Given the description of an element on the screen output the (x, y) to click on. 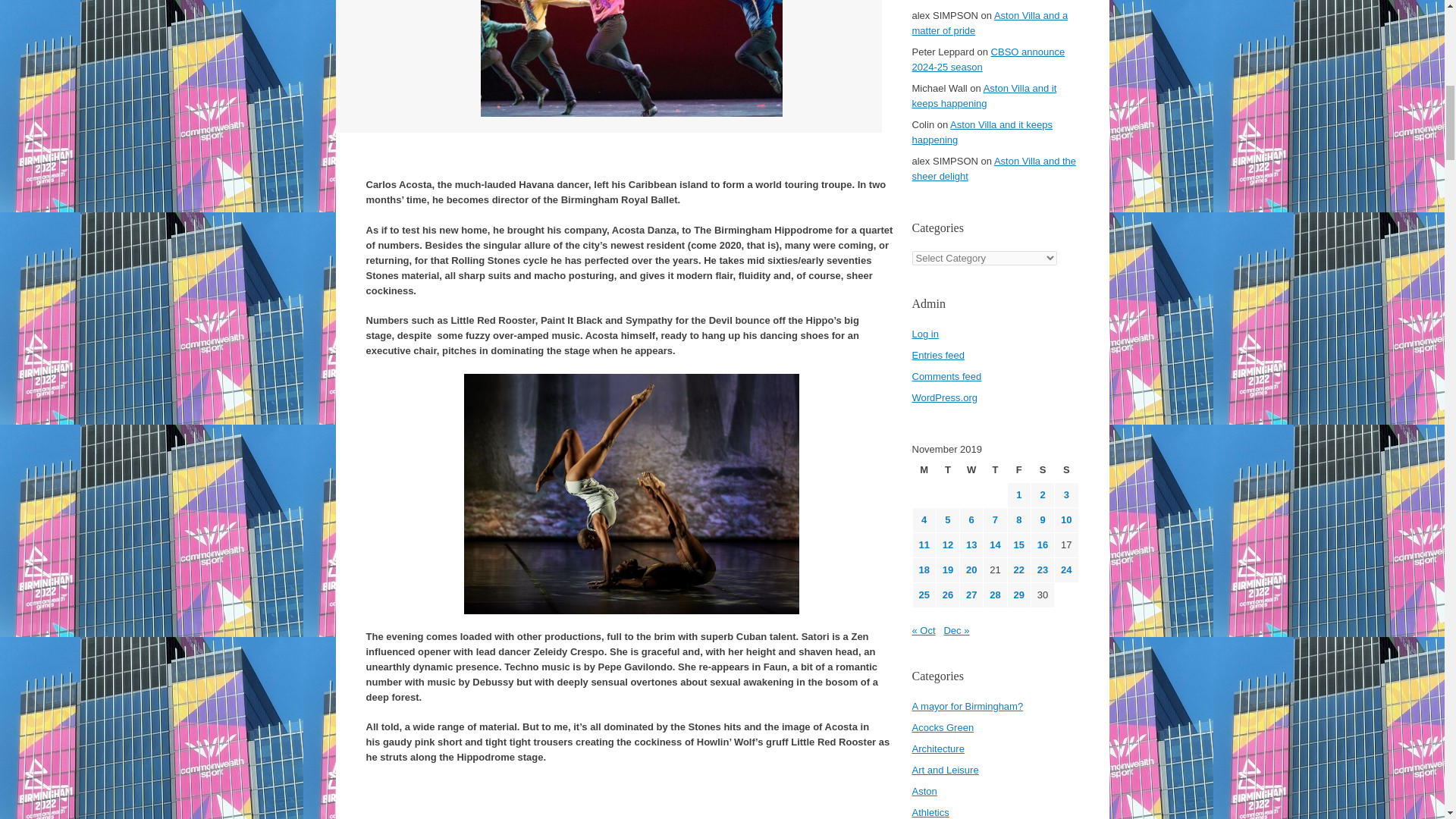
Aston Villa and a matter of pride (989, 22)
Aston Villa and it keeps happening (981, 131)
Log in (924, 333)
Aston Villa and it keeps happening (984, 95)
Aston Villa and the sheer delight (993, 168)
Monday (924, 469)
CBSO announce 2024-25 season (987, 58)
